Given the description of an element on the screen output the (x, y) to click on. 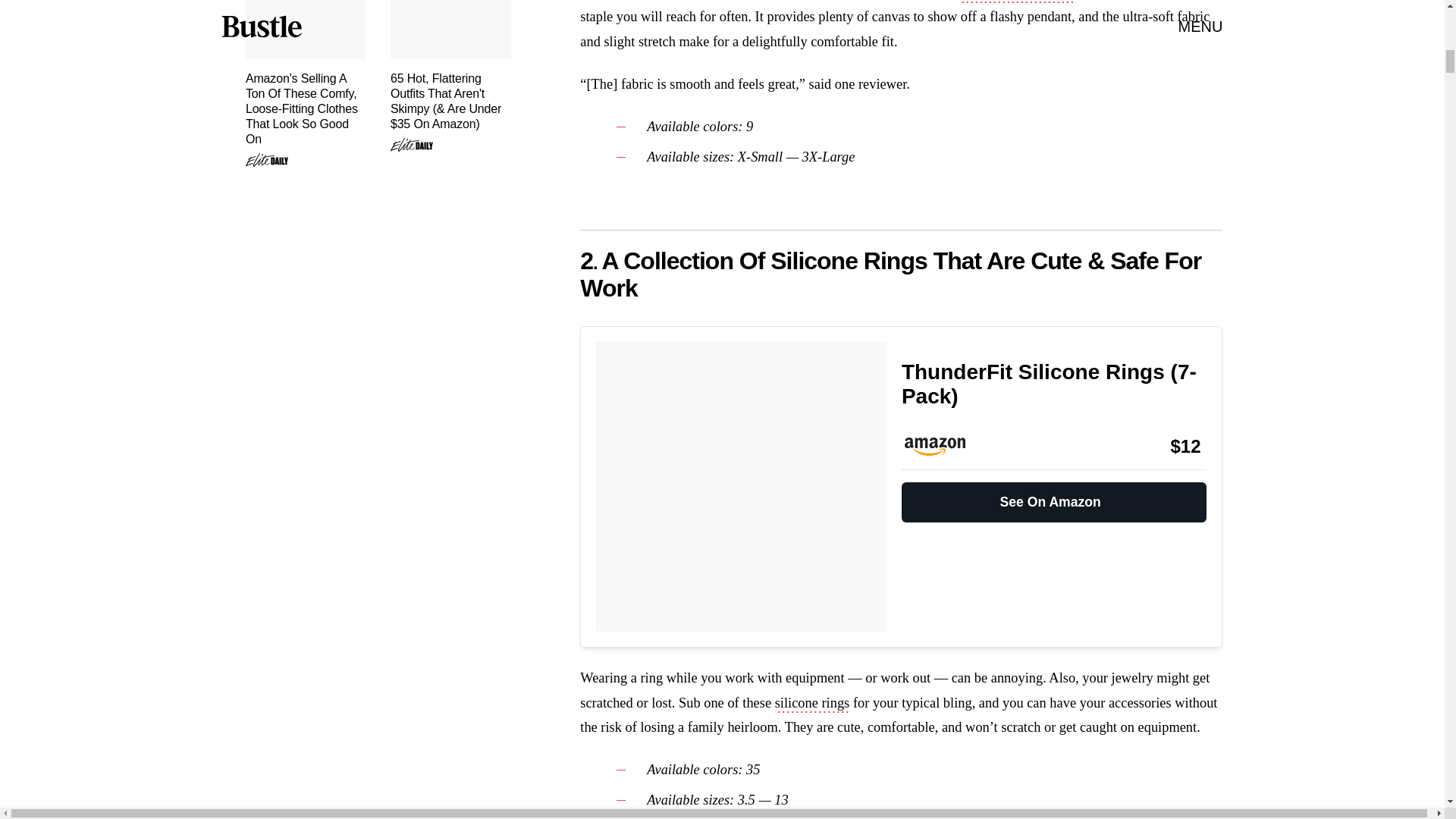
sleeveless turtleneck (1018, 1)
Amazon (941, 446)
See On Amazon (1054, 495)
silicone rings (812, 704)
